Given the description of an element on the screen output the (x, y) to click on. 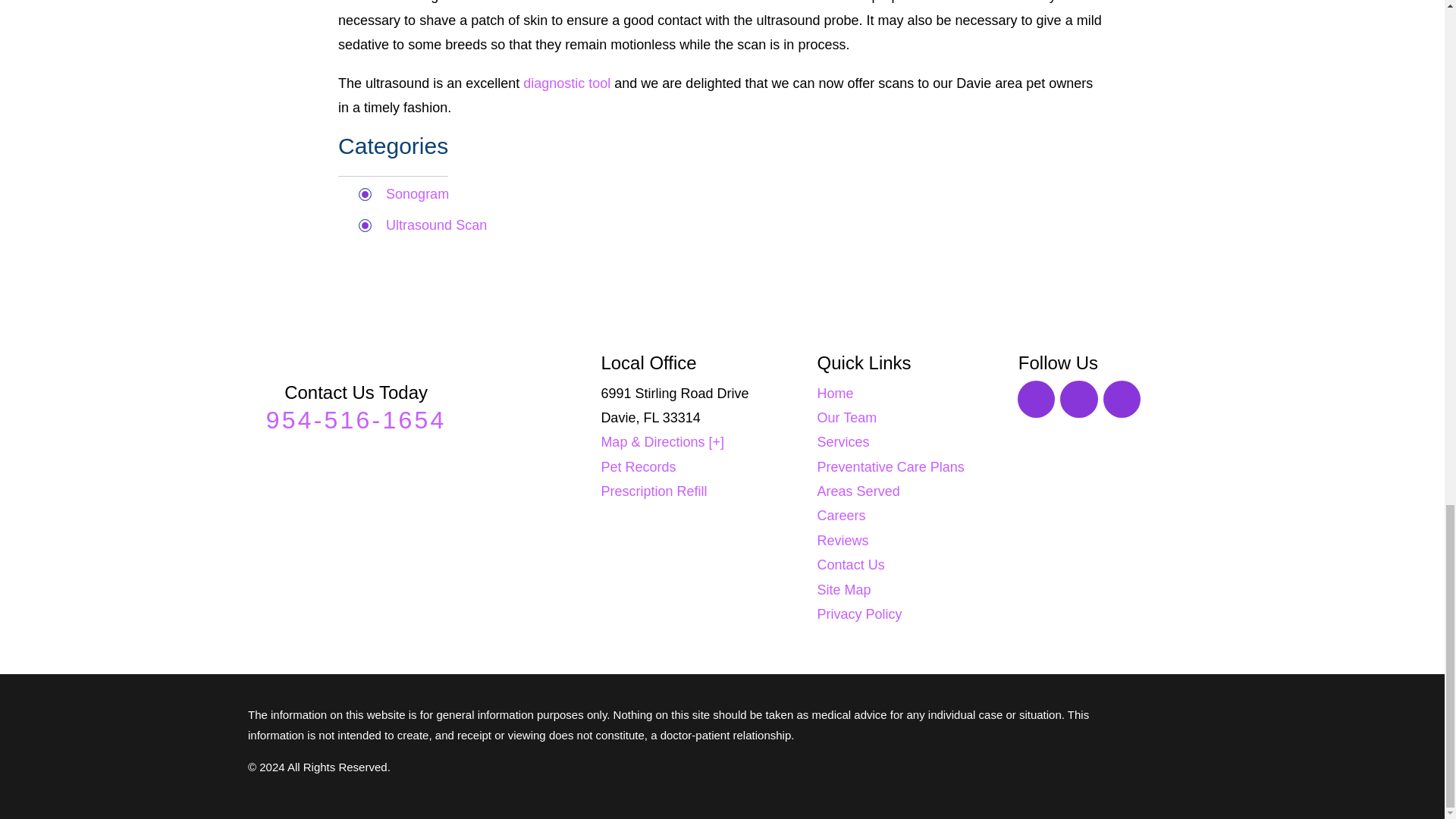
Twitter (1078, 398)
YouTube (1122, 398)
Facebook (1036, 398)
